Given the description of an element on the screen output the (x, y) to click on. 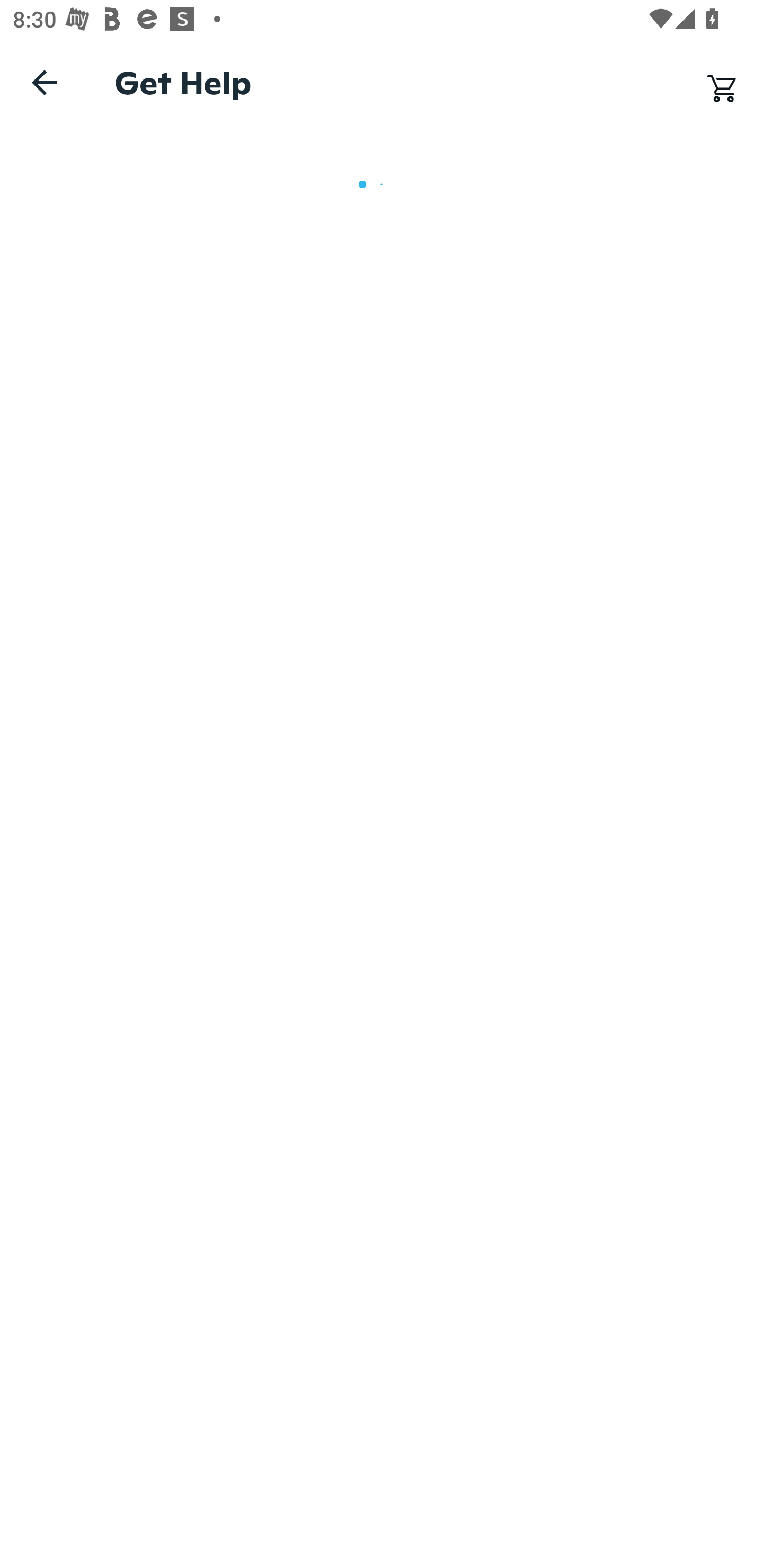
Navigate up (44, 82)
indeterminate (381, 184)
